Given the description of an element on the screen output the (x, y) to click on. 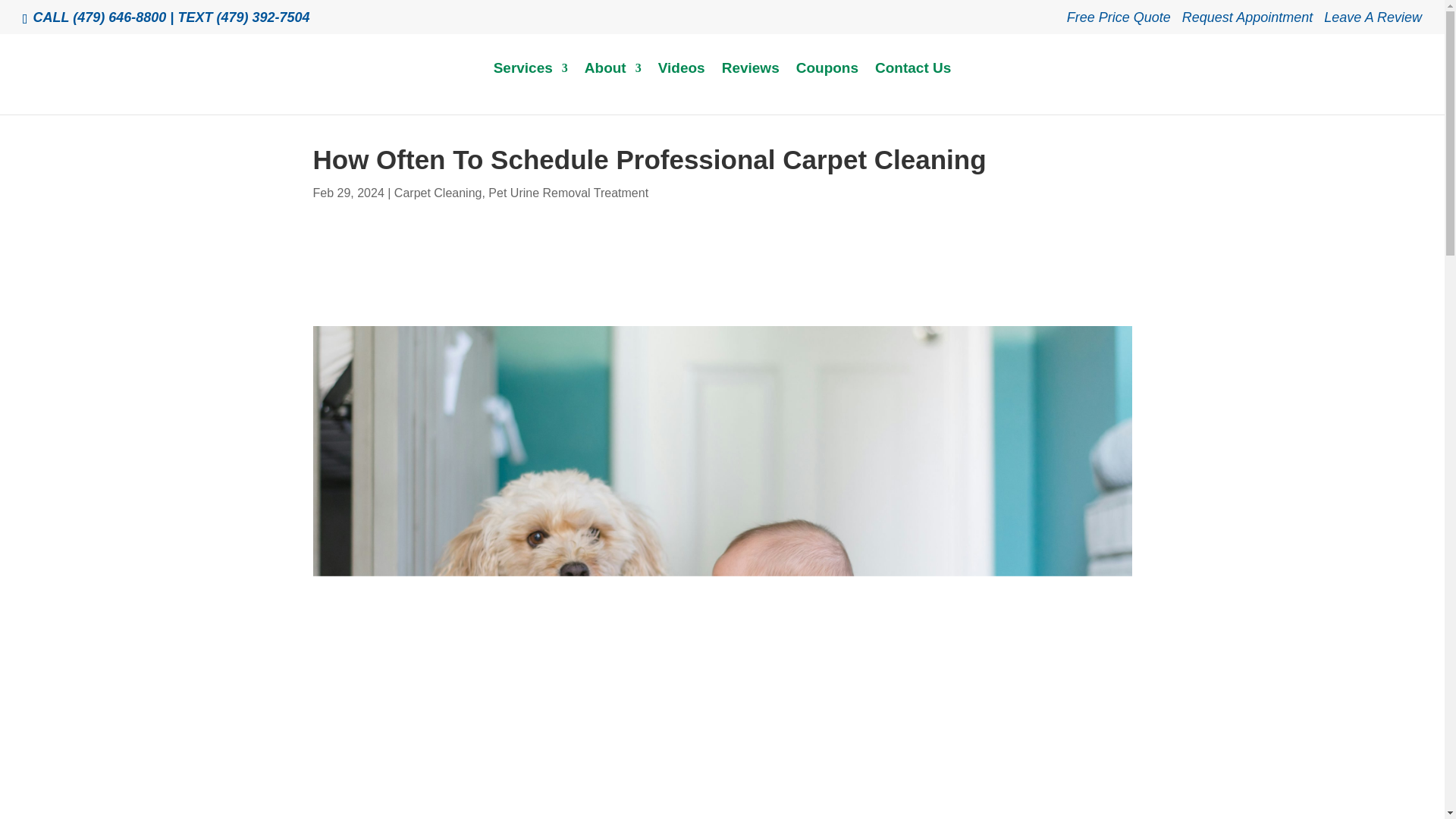
Free Price Quote (1118, 22)
About (613, 86)
Leave A Review (1372, 22)
Services (530, 86)
Reviews (750, 86)
Request Appointment (1247, 22)
Coupons (827, 86)
Carpet Cleaning (437, 192)
Contact Us (912, 86)
Pet Urine Removal Treatment (567, 192)
